Given the description of an element on the screen output the (x, y) to click on. 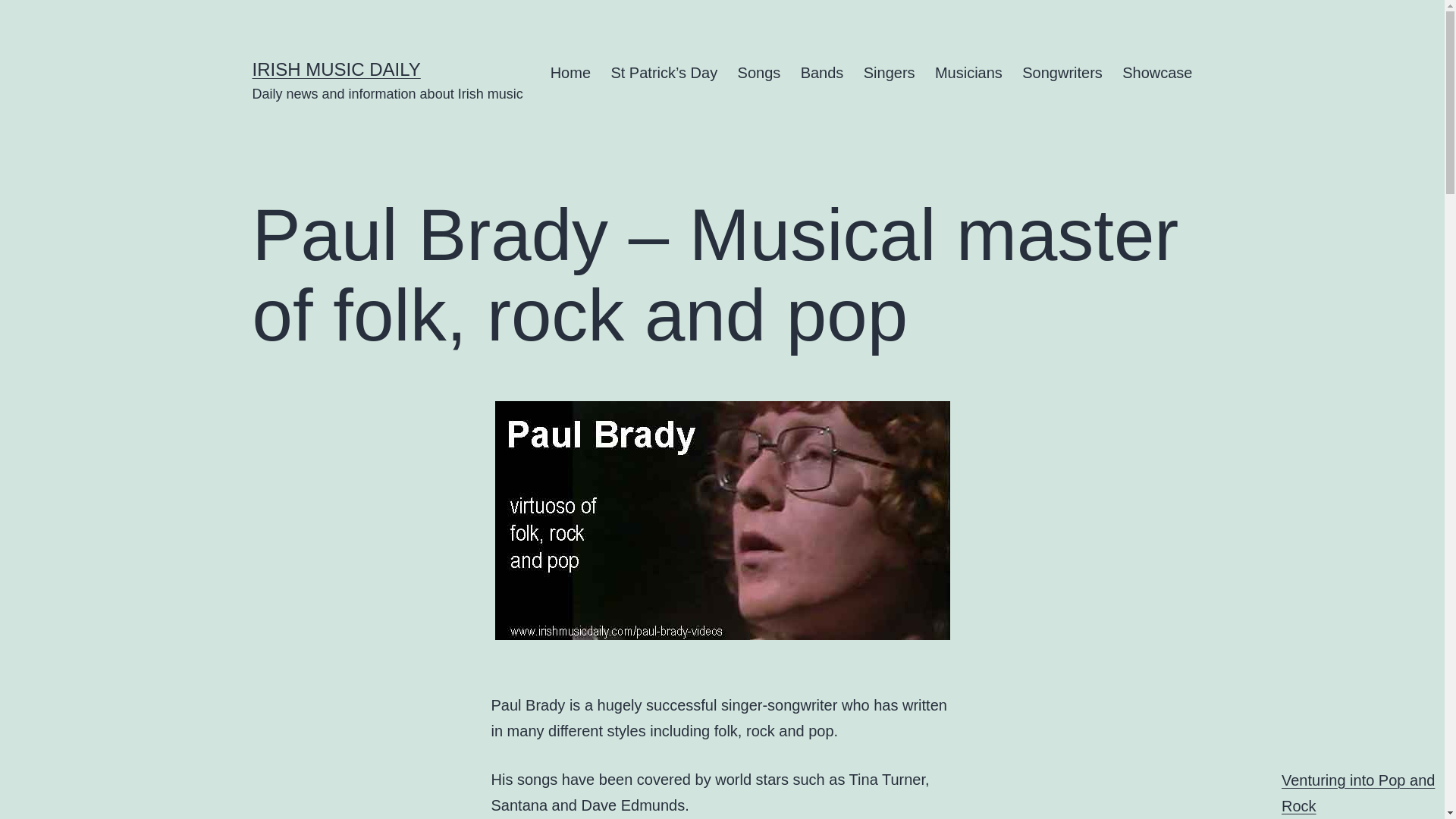
Musicians (967, 72)
Bands (821, 72)
IRISH MUSIC DAILY (335, 68)
Home (569, 72)
Songs (758, 72)
Songwriters (1061, 72)
Showcase (1157, 72)
Venturing into Pop and Rock (1357, 793)
Singers (888, 72)
